Given the description of an element on the screen output the (x, y) to click on. 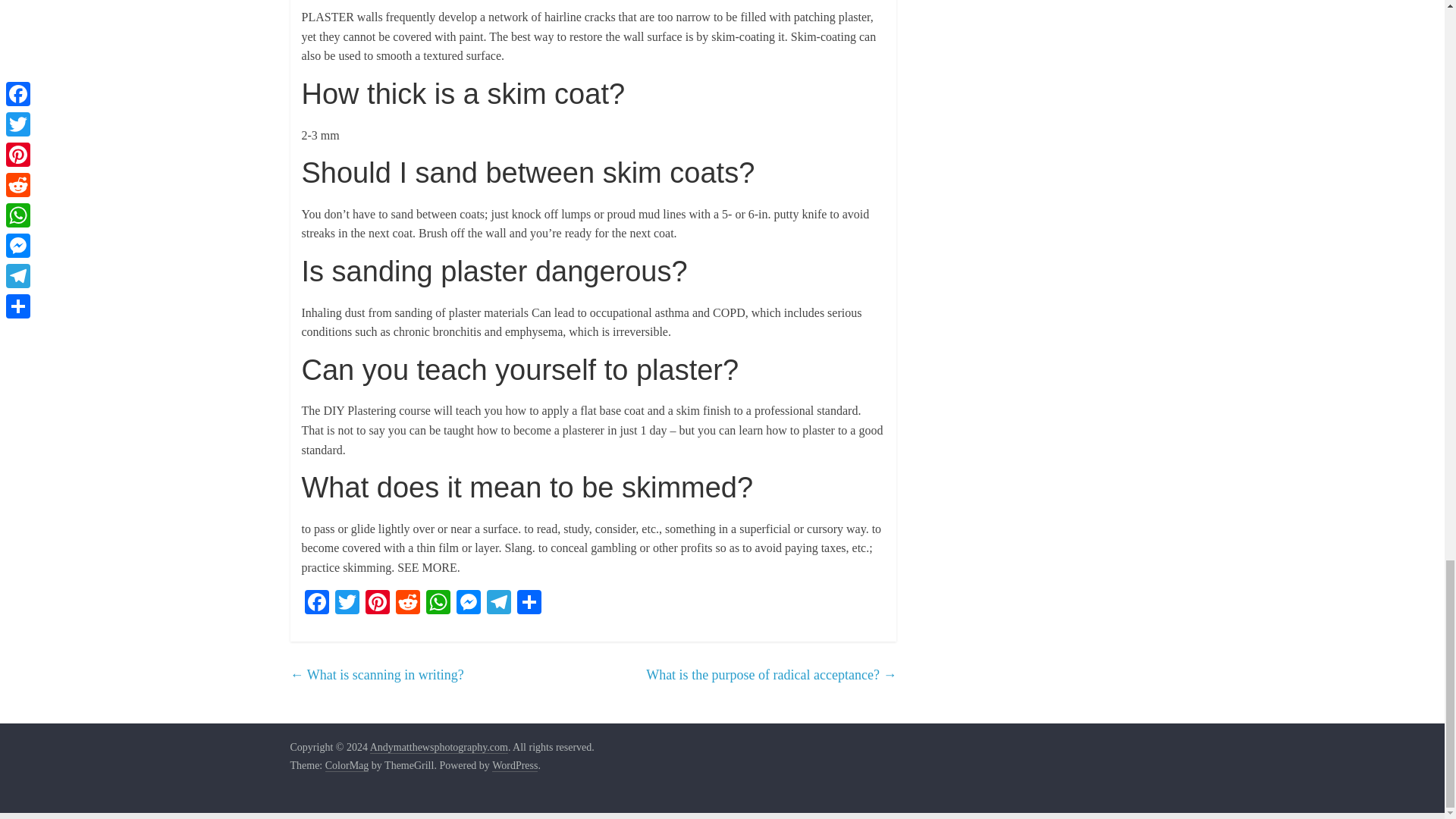
Facebook (316, 603)
Twitter (346, 603)
Pinterest (377, 603)
Reddit (408, 603)
